Given the description of an element on the screen output the (x, y) to click on. 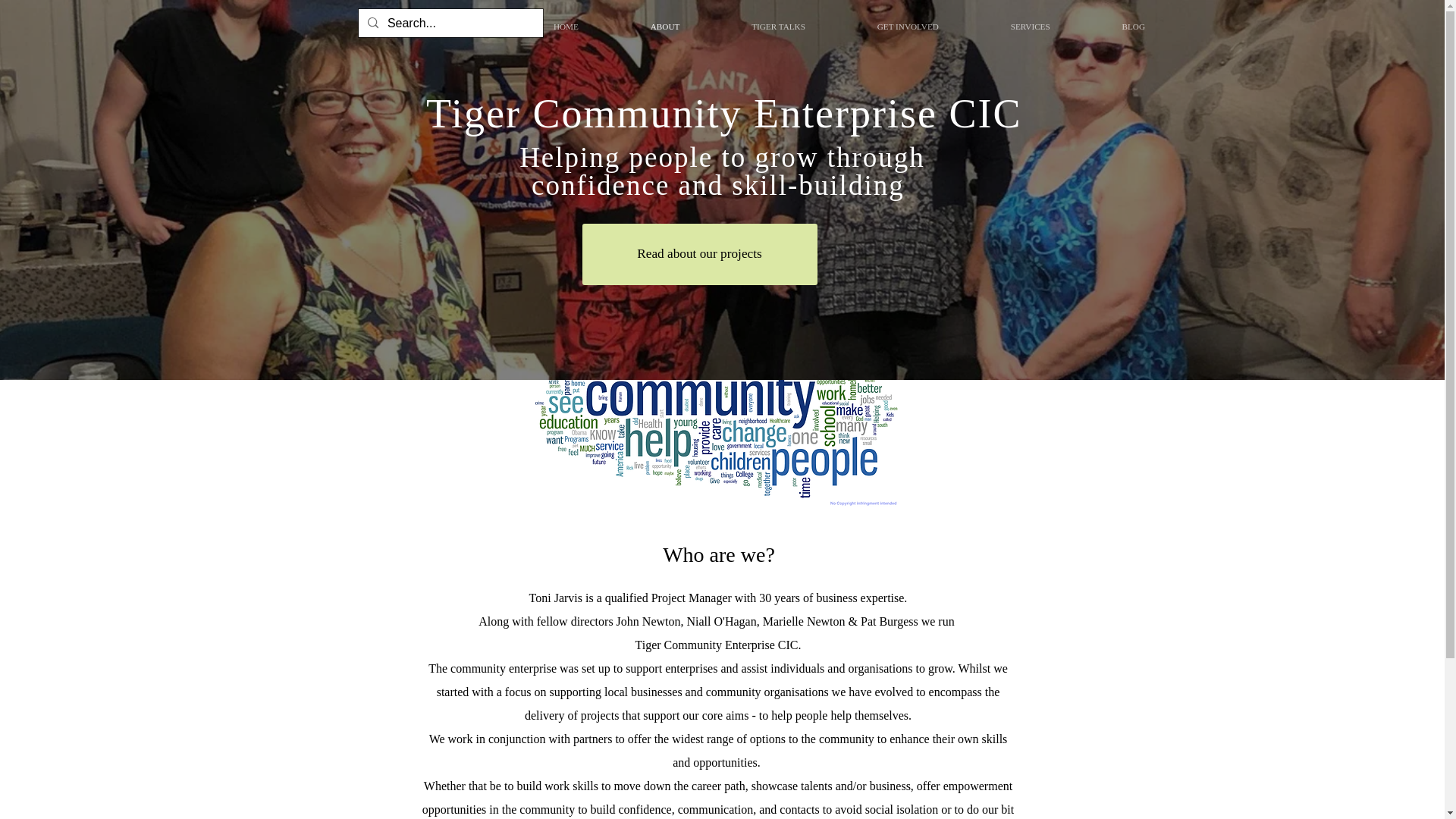
ABOUT (664, 26)
TIGER TALKS (778, 26)
SERVICES (1030, 26)
HOME (565, 26)
Read about our projects (699, 253)
BLOG (1133, 26)
GET INVOLVED (907, 26)
